Given the description of an element on the screen output the (x, y) to click on. 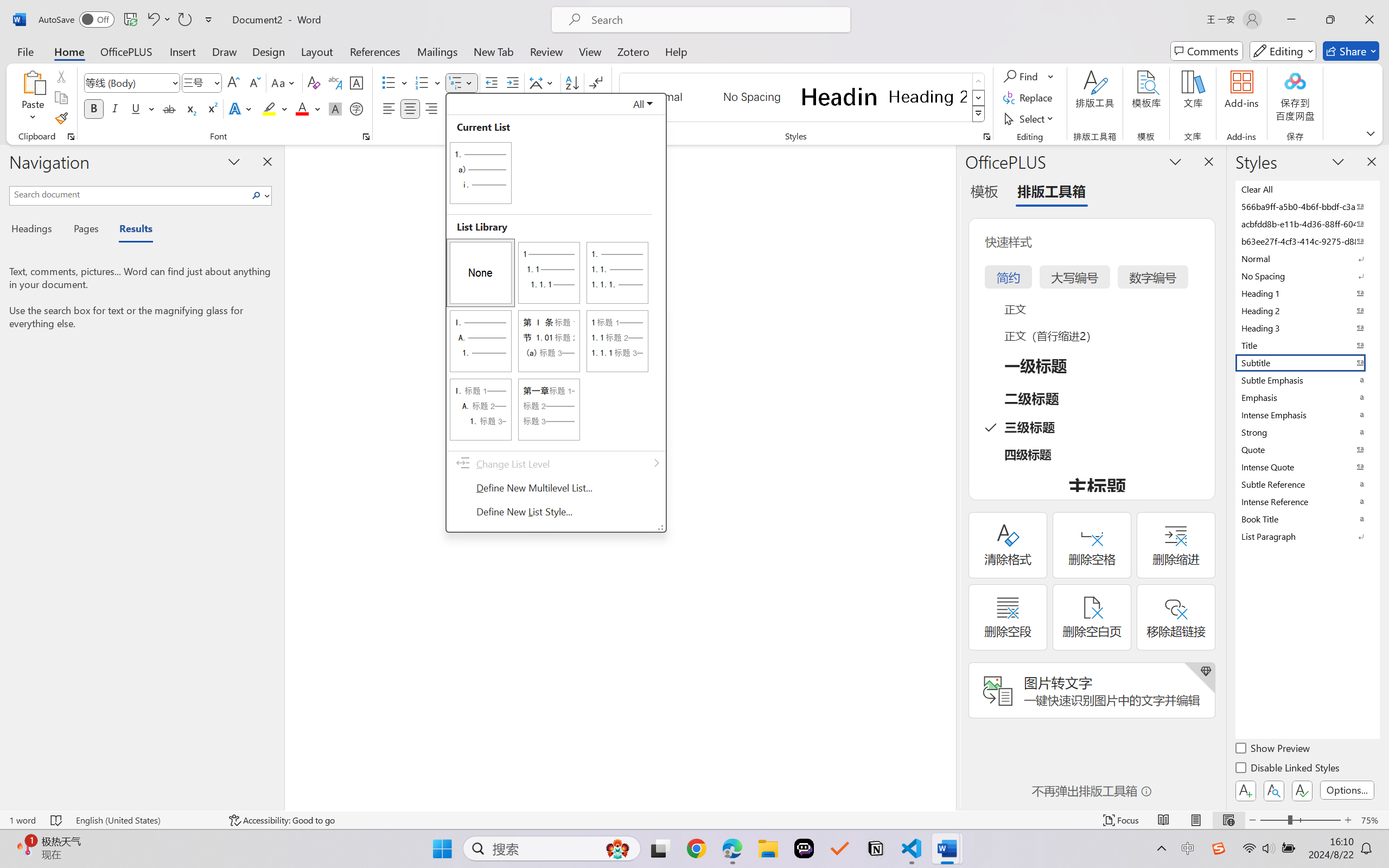
Problems (Ctrl+Shift+M) (190, 655)
Manage (13, 816)
Launch Profile... (1336, 656)
Accounts (13, 787)
Use Regular Expression (Alt+R) (1206, 65)
Source Control (Ctrl+Shift+G) (13, 92)
test.py (197, 31)
Toggle Primary Side Bar (Ctrl+B) (1264, 9)
Next Match (Enter) (1272, 65)
UTF-8 (1250, 836)
Hide Panel (1376, 655)
Find in Selection (Alt+L) (1285, 65)
Toggle Replace (1088, 64)
Python (1310, 836)
